Given the description of an element on the screen output the (x, y) to click on. 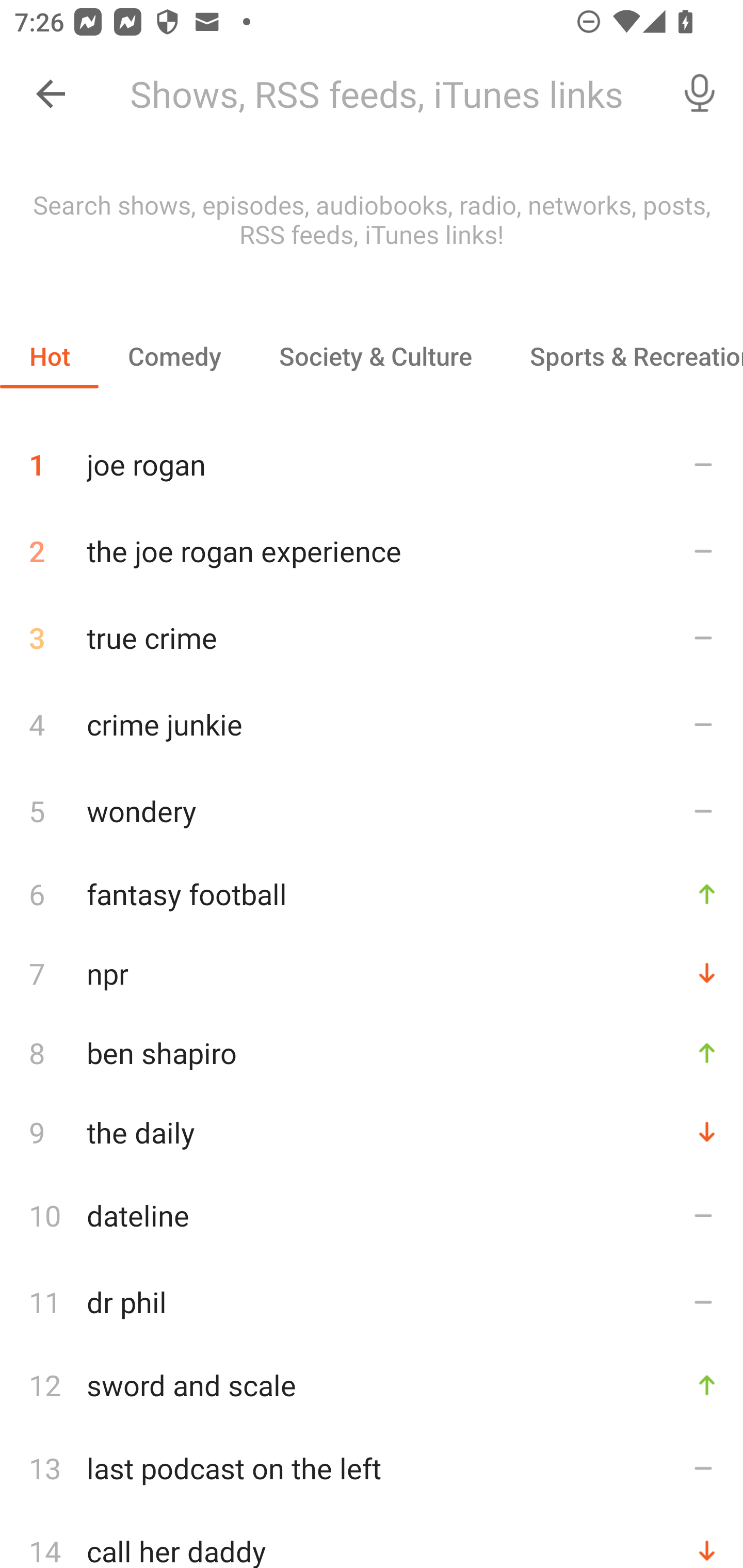
Collapse (50, 93)
Voice Search (699, 93)
Shows, RSS feeds, iTunes links (385, 94)
Hot (49, 355)
Comedy (173, 355)
Society & Culture (374, 355)
Sports & Recreation (621, 355)
1 joe rogan (371, 457)
2 the joe rogan experience (371, 551)
3 true crime (371, 637)
4 crime junkie (371, 723)
5 wondery (371, 810)
6 fantasy football (371, 893)
7 npr (371, 972)
8 ben shapiro (371, 1052)
9 the daily (371, 1131)
10 dateline (371, 1215)
11 dr phil (371, 1302)
12 sword and scale (371, 1385)
13 last podcast on the left (371, 1468)
14 call her daddy (371, 1539)
